Given the description of an element on the screen output the (x, y) to click on. 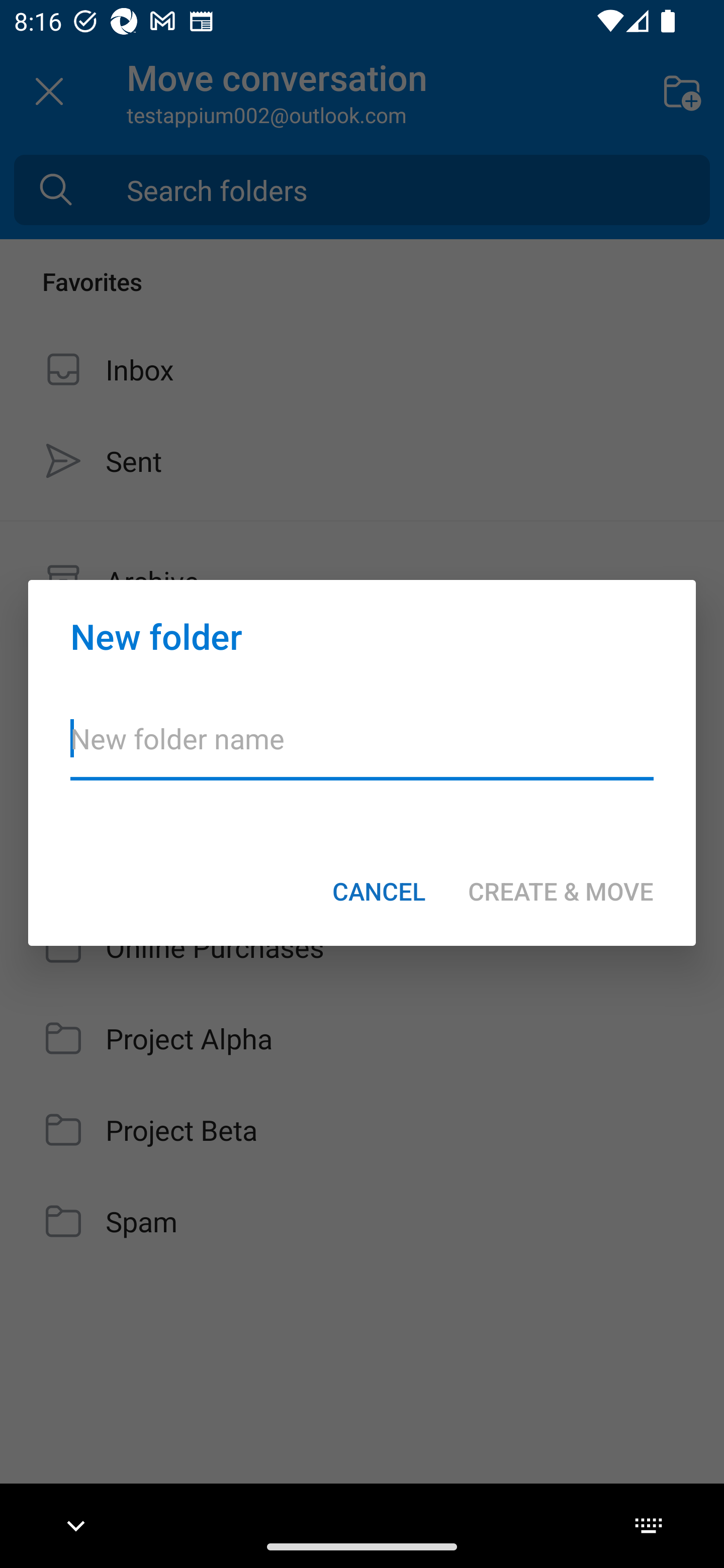
New folder name (361, 750)
CANCEL (378, 891)
CREATE & MOVE (560, 891)
